Given the description of an element on the screen output the (x, y) to click on. 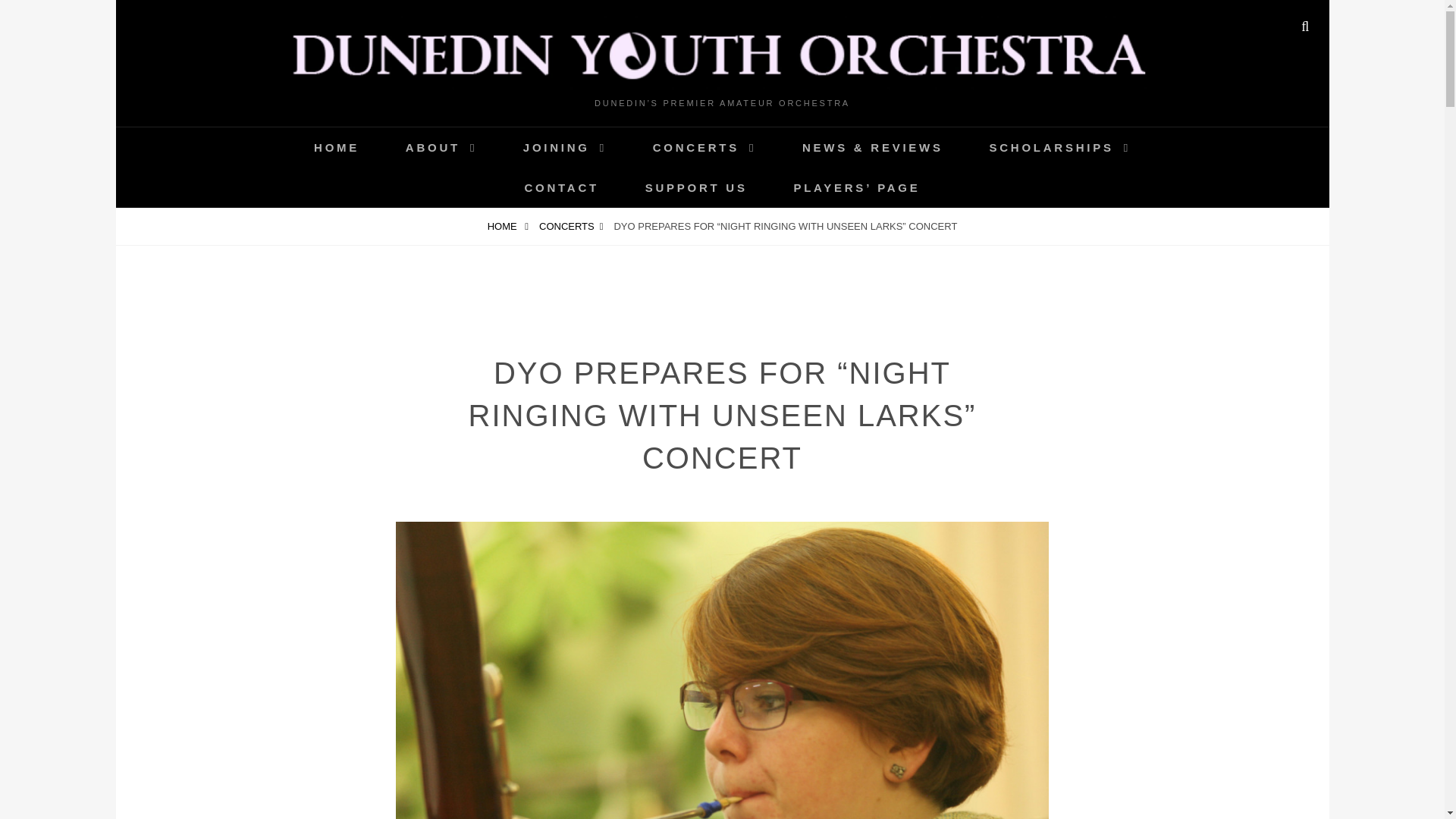
SUPPORT US (696, 187)
HOME (336, 147)
JOINING (564, 147)
About (440, 147)
HOME (507, 226)
SCHOLARSHIPS (1059, 147)
ABOUT (440, 147)
CONTACT (561, 187)
CONCERTS (704, 147)
CONCERTS (571, 226)
